Given the description of an element on the screen output the (x, y) to click on. 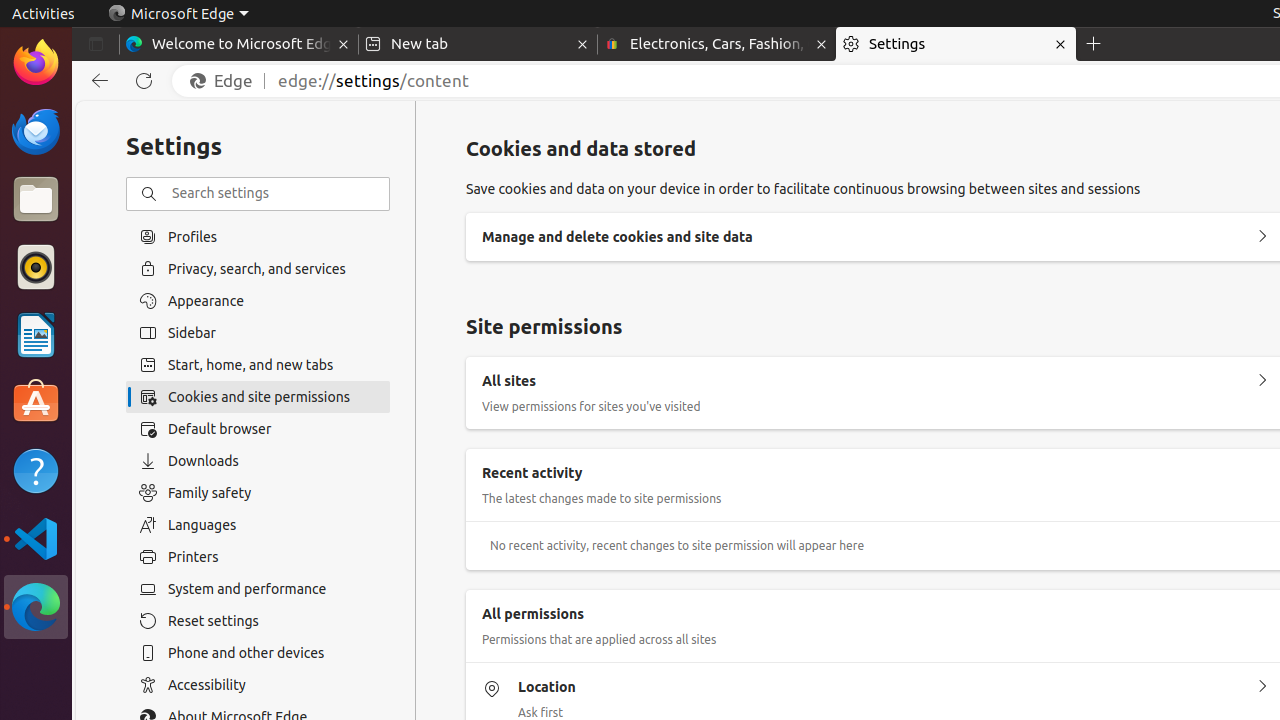
Thunderbird Mail Element type: push-button (36, 131)
Refresh Element type: push-button (144, 81)
Electronics, Cars, Fashion, Collectibles & More | eBay Element type: page-tab (717, 44)
Family safety Element type: tree-item (258, 493)
LibreOffice Writer Element type: push-button (36, 334)
